Given the description of an element on the screen output the (x, y) to click on. 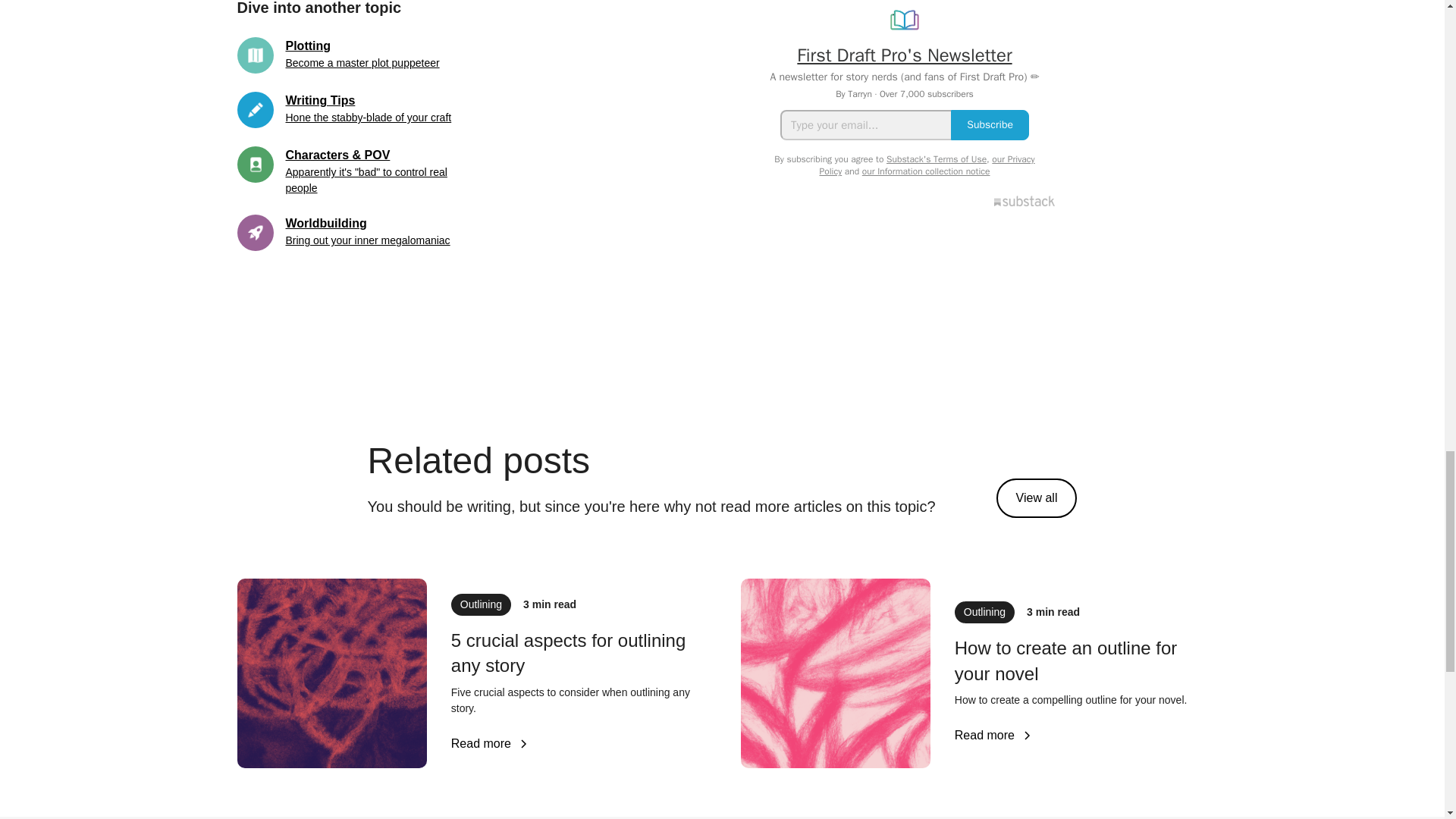
5 crucial aspects for outlining any story (577, 653)
How to create an outline for your novel (1081, 660)
View all (1036, 497)
Read more (490, 743)
Outlining (984, 612)
Outlining (481, 604)
